Given the description of an element on the screen output the (x, y) to click on. 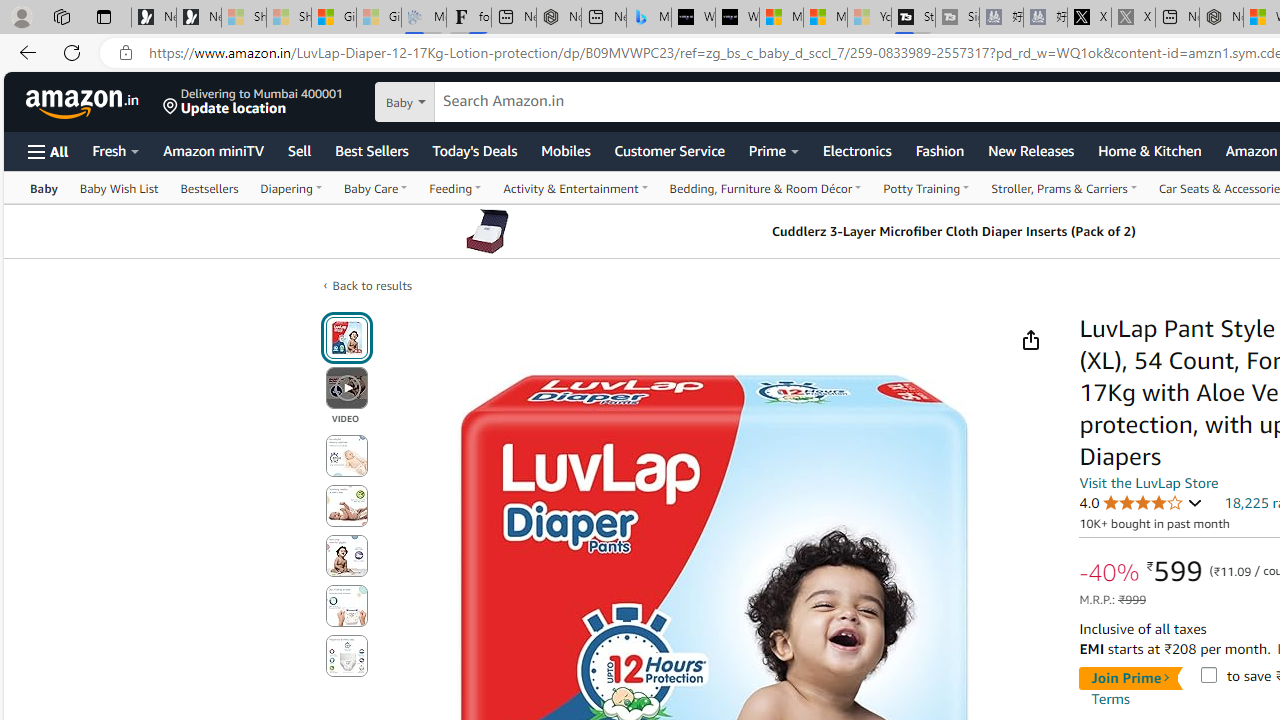
Microsoft Start Sports (781, 17)
X - Sleeping (1133, 17)
Newsletter Sign Up (198, 17)
X (1089, 17)
What's the best AI voice generator? - voice.ai (737, 17)
Microsoft Start (825, 17)
